Given the description of an element on the screen output the (x, y) to click on. 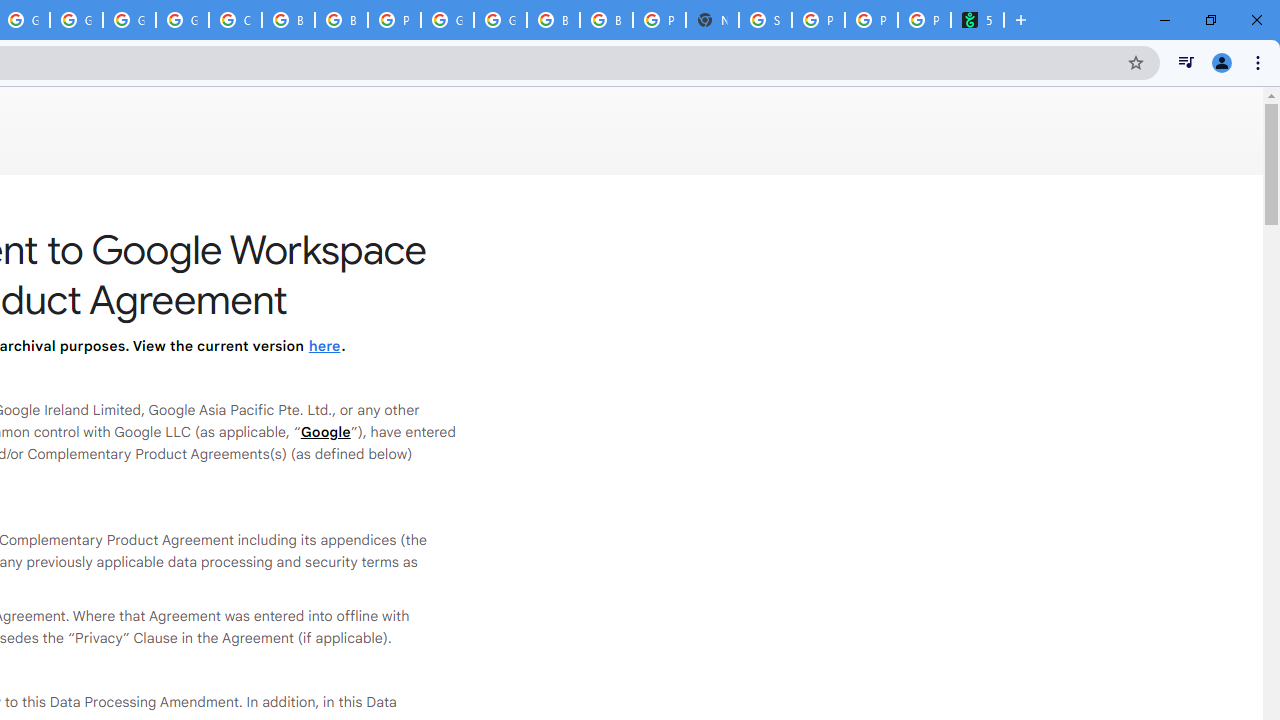
Google Cloud Platform (129, 20)
You (1221, 62)
Browse Chrome as a guest - Computer - Google Chrome Help (606, 20)
New Tab (1021, 20)
Google Cloud Platform (500, 20)
Bookmark this tab (1135, 62)
Close (1256, 20)
New Tab (712, 20)
Browse Chrome as a guest - Computer - Google Chrome Help (288, 20)
Browse Chrome as a guest - Computer - Google Chrome Help (341, 20)
